Given the description of an element on the screen output the (x, y) to click on. 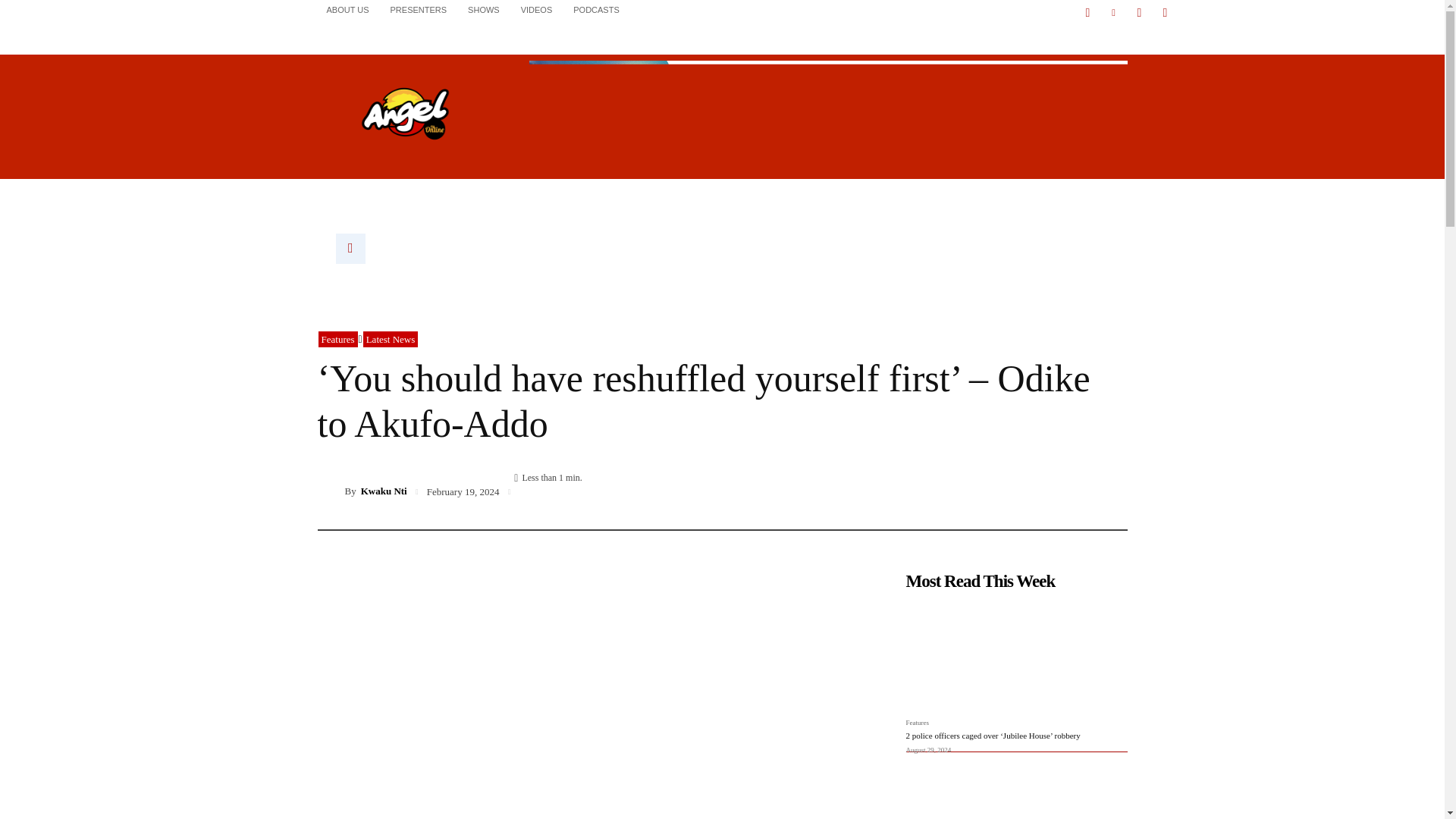
Facebook (1087, 13)
Twitter (1138, 13)
VIDEOS (537, 9)
Youtube (1164, 13)
Linkedin (1112, 13)
Kwaku Nti (330, 490)
PODCASTS (596, 9)
ABOUT US (346, 9)
PRESENTERS (419, 9)
SHOWS (484, 9)
